Given the description of an element on the screen output the (x, y) to click on. 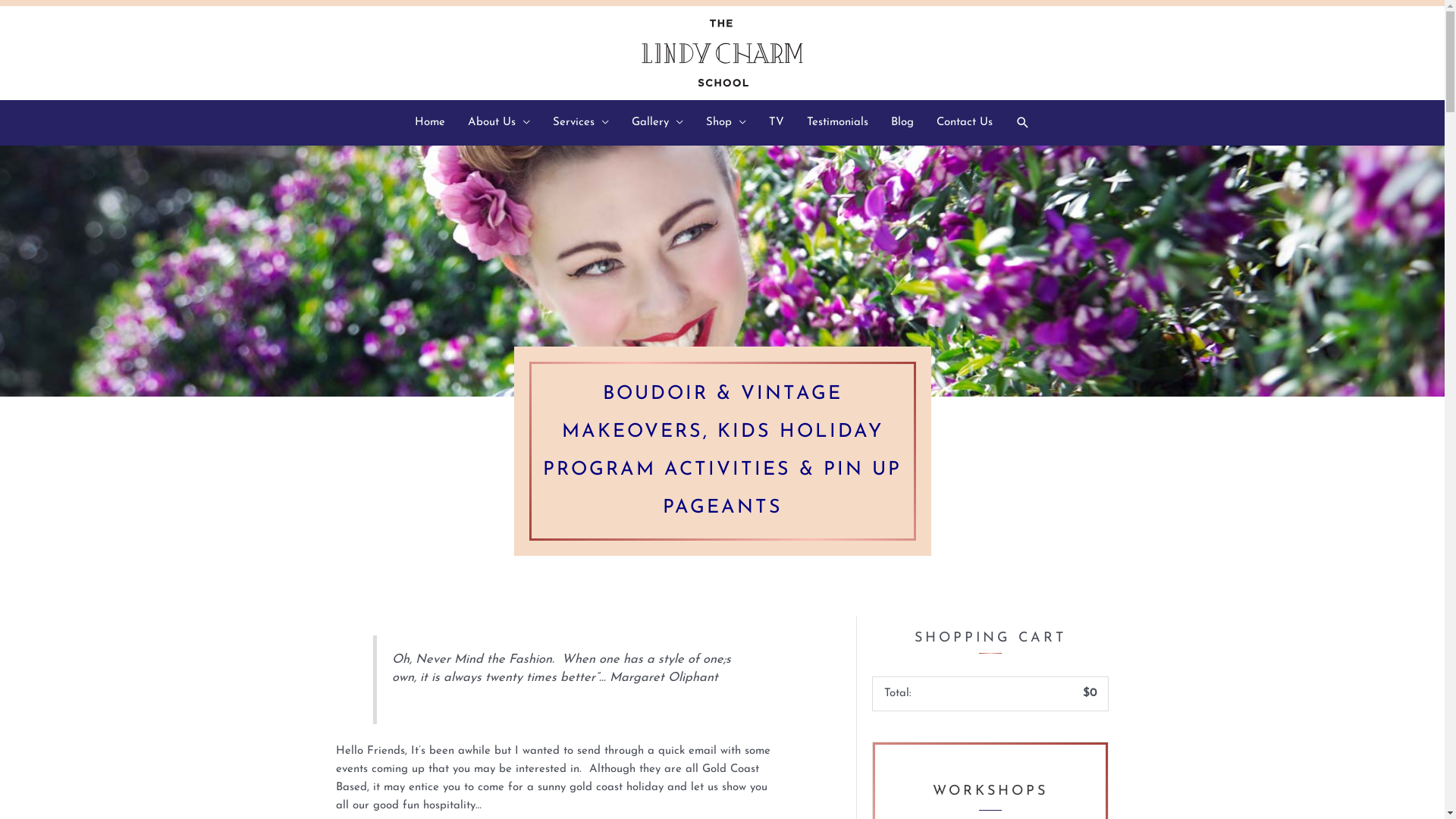
Contact Us Element type: text (964, 122)
About Us Element type: text (498, 122)
Services Element type: text (580, 122)
TV Element type: text (775, 122)
Testimonials Element type: text (836, 122)
Search Element type: text (1021, 122)
Home Element type: text (429, 122)
Shop Element type: text (725, 122)
Blog Element type: text (902, 122)
Gallery Element type: text (657, 122)
